Given the description of an element on the screen output the (x, y) to click on. 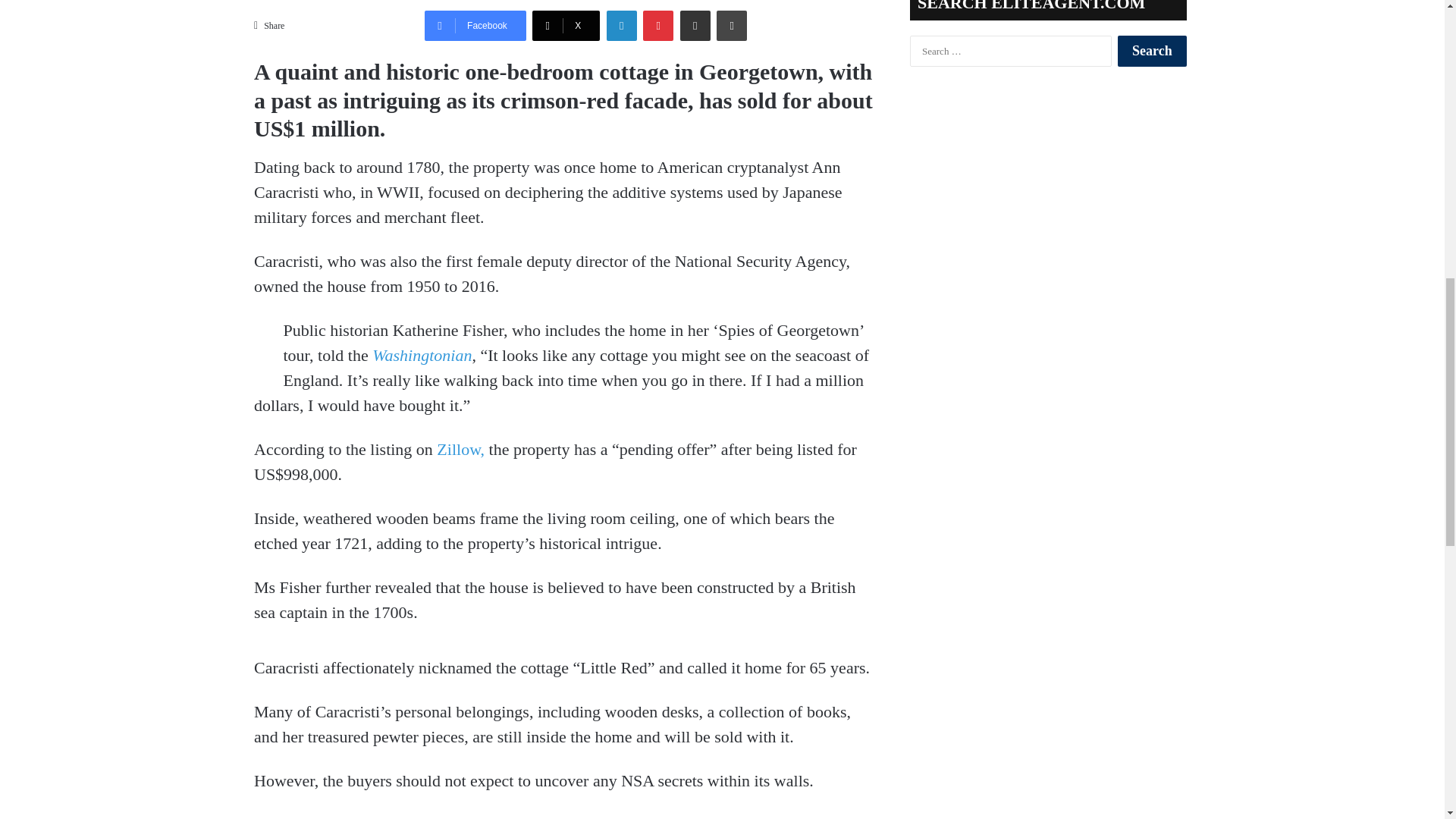
Facebook (475, 25)
Search (1152, 51)
X (565, 25)
Print (731, 25)
Share via Email (694, 25)
Search (1152, 51)
LinkedIn (622, 25)
Pinterest (657, 25)
